Given the description of an element on the screen output the (x, y) to click on. 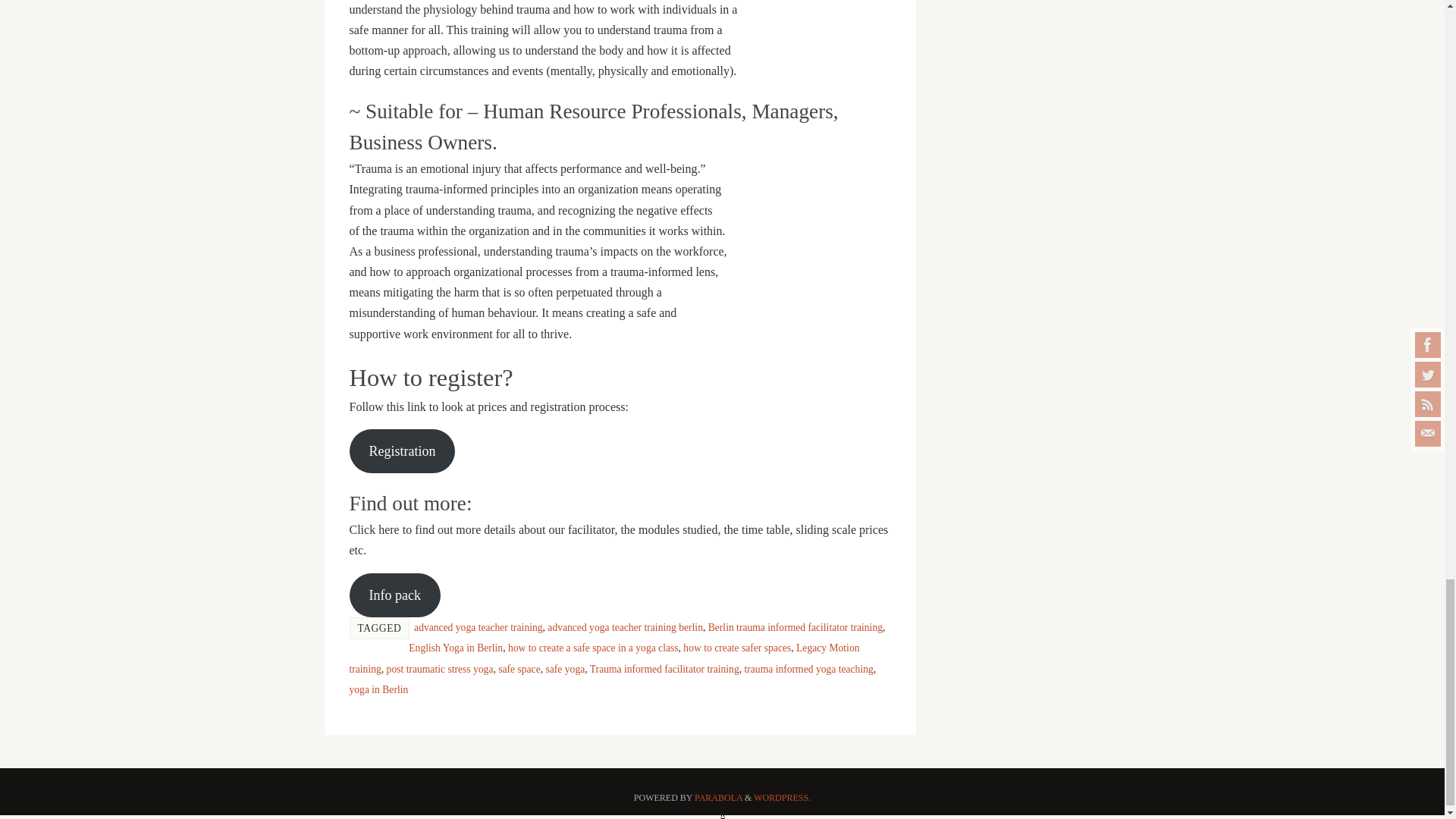
Parabola Theme by Cryout Creations (718, 797)
Registration (401, 451)
Semantic Personal Publishing Platform (782, 797)
